Given the description of an element on the screen output the (x, y) to click on. 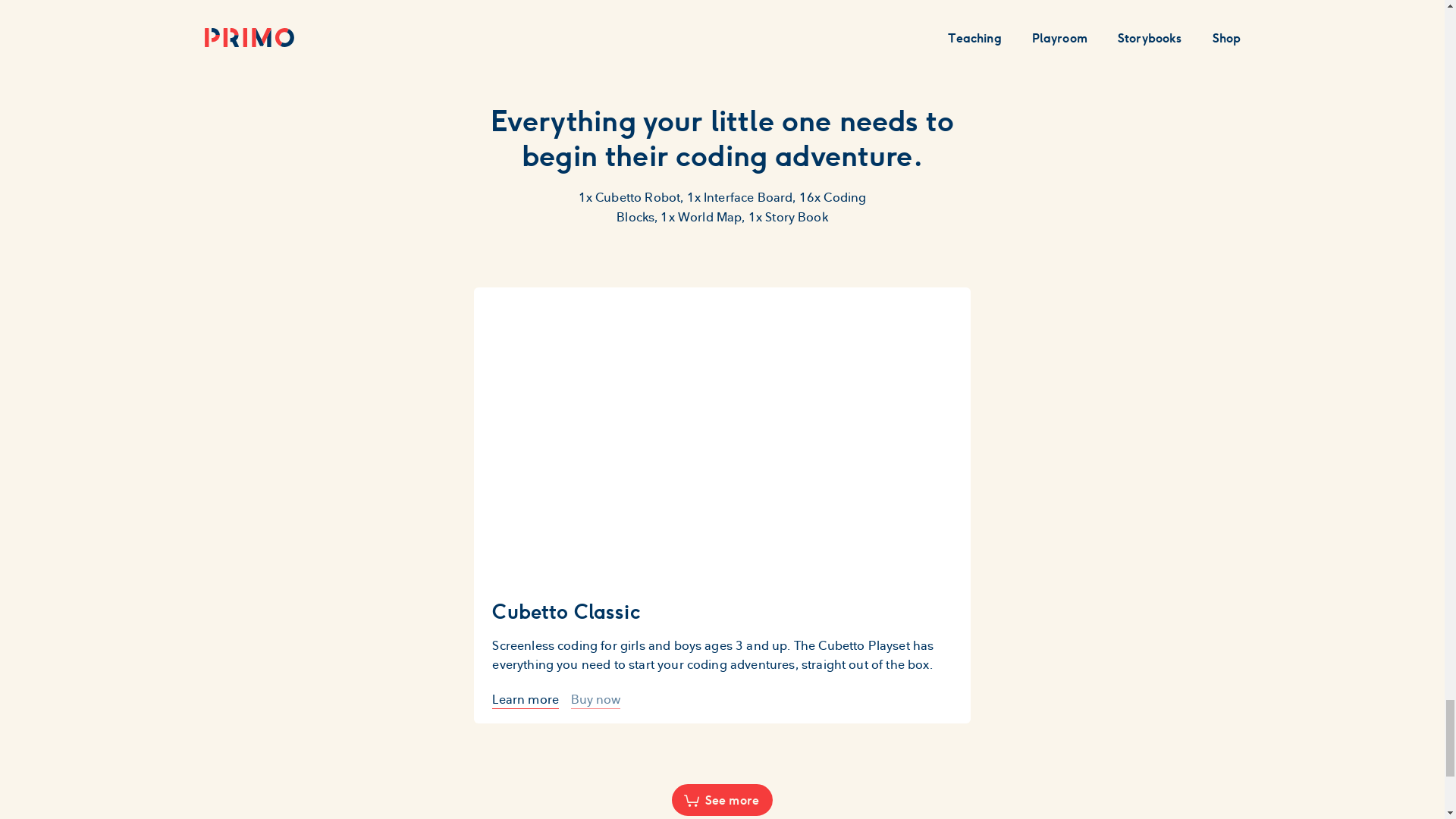
Learn more (525, 700)
Buy now (595, 700)
See more (722, 799)
Cubetto Classic (722, 611)
